Given the description of an element on the screen output the (x, y) to click on. 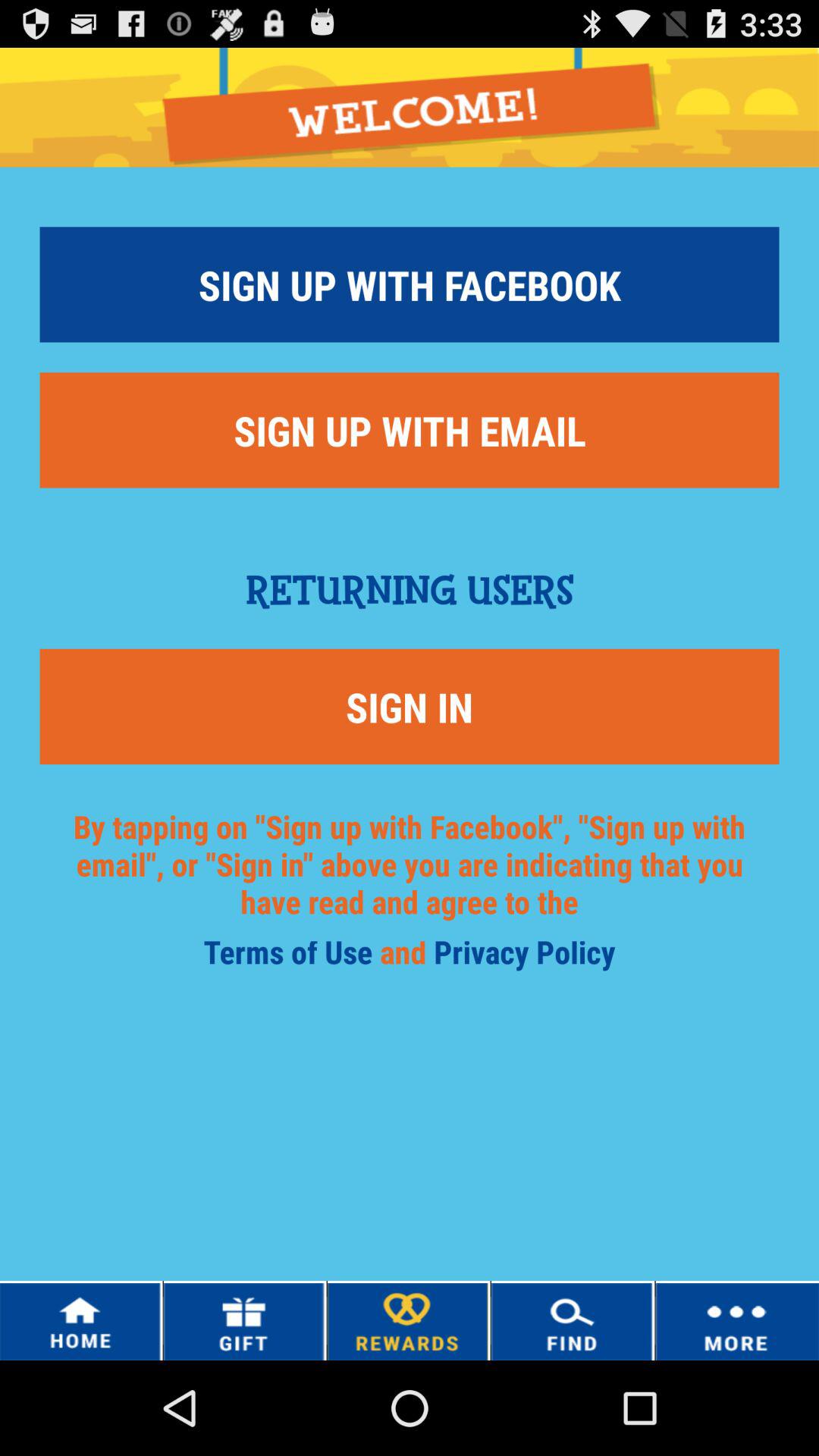
turn off the privacy policy app (524, 957)
